Given the description of an element on the screen output the (x, y) to click on. 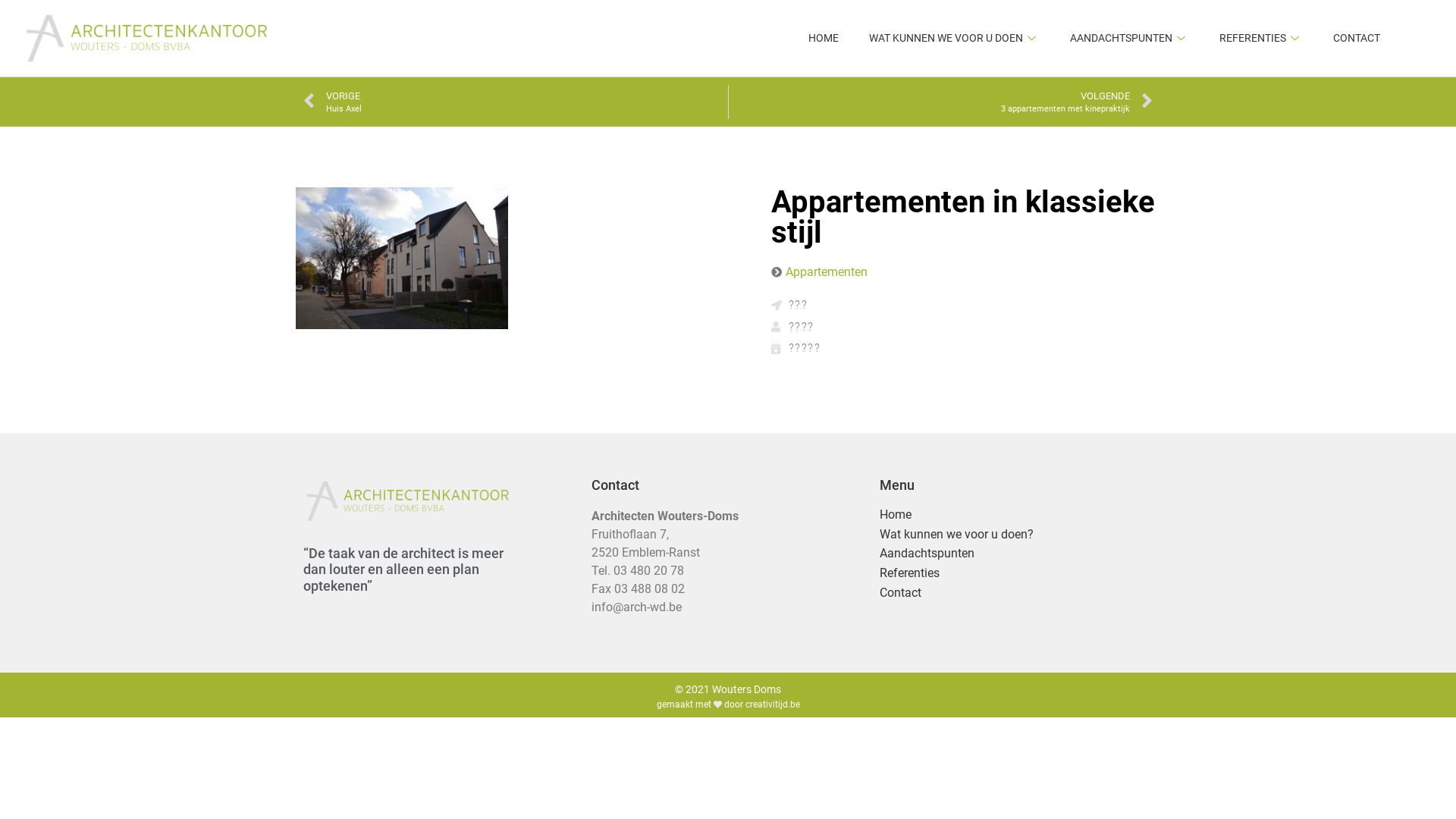
AANDACHTSPUNTEN Element type: text (1129, 38)
REFERENTIES Element type: text (1260, 38)
Contact Element type: text (1015, 593)
VOLGENDE
3 appartementen met kinepraktijk Element type: text (940, 101)
Home Element type: text (1015, 515)
HOME Element type: text (823, 38)
Referenties Element type: text (1015, 573)
Wat kunnen we voor u doen? Element type: text (1015, 534)
WAT KUNNEN WE VOOR U DOEN Element type: text (953, 38)
Appartementen Element type: text (826, 271)
VORIGE
Huis Axel Element type: text (515, 101)
Aandachtspunten Element type: text (1015, 553)
creativitijd.be Element type: text (771, 704)
CONTACT Element type: text (1356, 38)
